Given the description of an element on the screen output the (x, y) to click on. 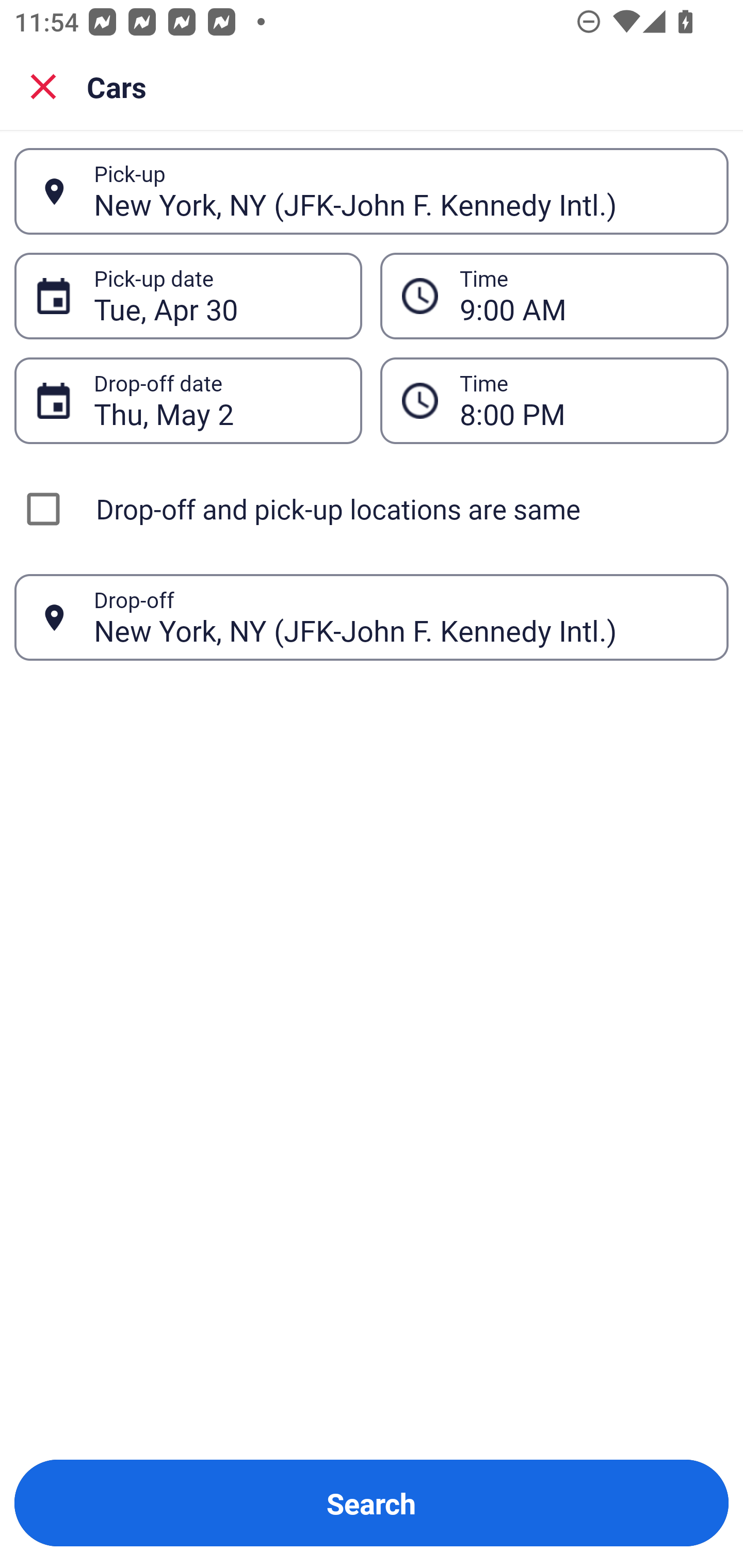
Close search screen (43, 86)
New York, NY (JFK-John F. Kennedy Intl.) Pick-up (371, 191)
New York, NY (JFK-John F. Kennedy Intl.) (399, 191)
Tue, Apr 30 Pick-up date (188, 295)
9:00 AM (554, 295)
Tue, Apr 30 (216, 296)
9:00 AM (582, 296)
Thu, May 2 Drop-off date (188, 400)
8:00 PM (554, 400)
Thu, May 2 (216, 400)
8:00 PM (582, 400)
Drop-off and pick-up locations are same (371, 508)
New York, NY (JFK-John F. Kennedy Intl.) Drop-off (371, 616)
New York, NY (JFK-John F. Kennedy Intl.) (399, 616)
Search Button Search (371, 1502)
